Given the description of an element on the screen output the (x, y) to click on. 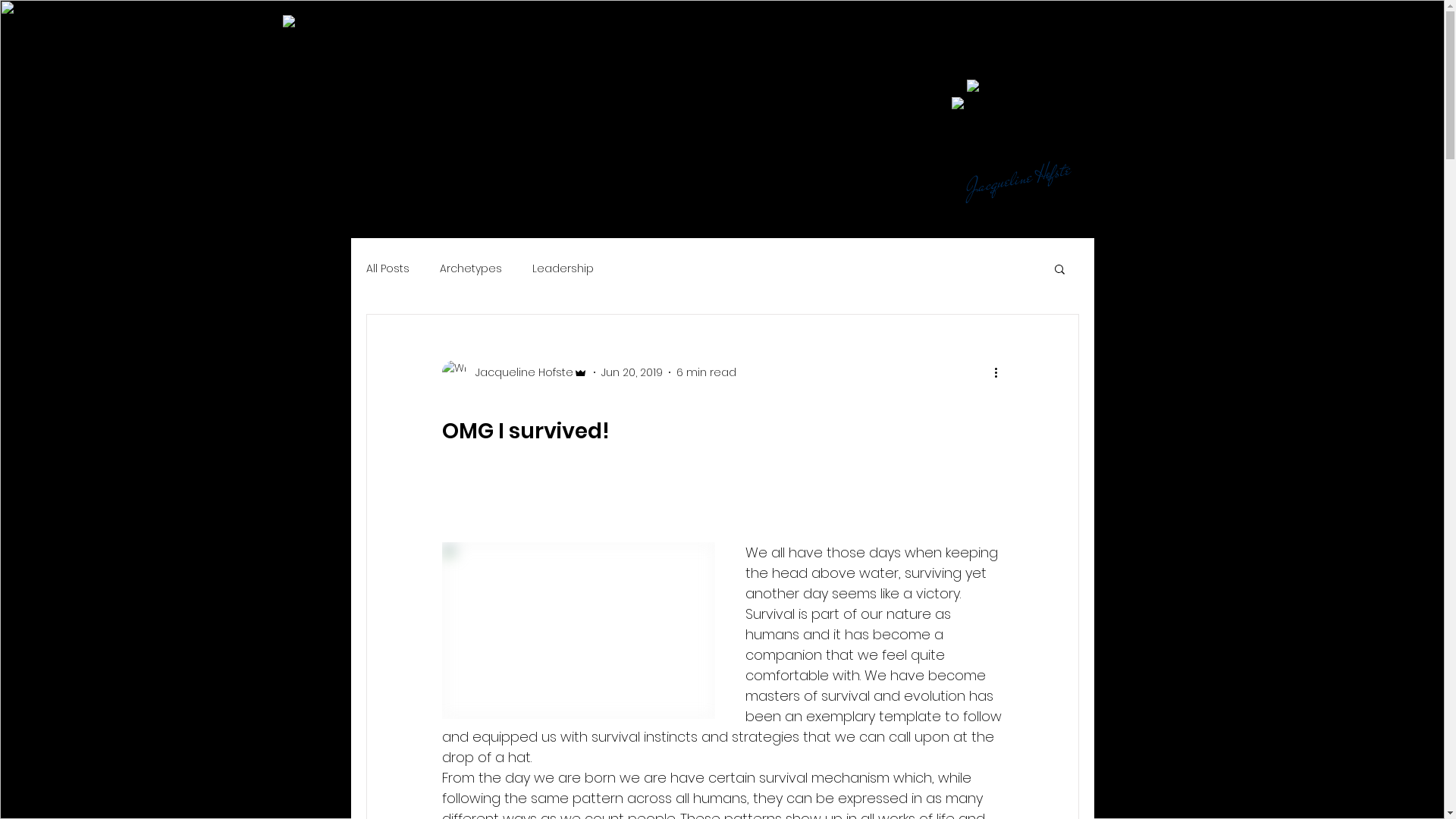
my blog Element type: text (896, 40)
events Element type: text (658, 40)
All Posts Element type: text (386, 268)
my keynotes Element type: text (774, 40)
contact me Element type: text (1129, 40)
Jacqueline Hofste Element type: text (513, 372)
Leadership Element type: text (562, 268)
home Element type: text (450, 40)
about me Element type: text (1005, 40)
workshops Element type: text (552, 40)
Archetypes Element type: text (470, 268)
